Given the description of an element on the screen output the (x, y) to click on. 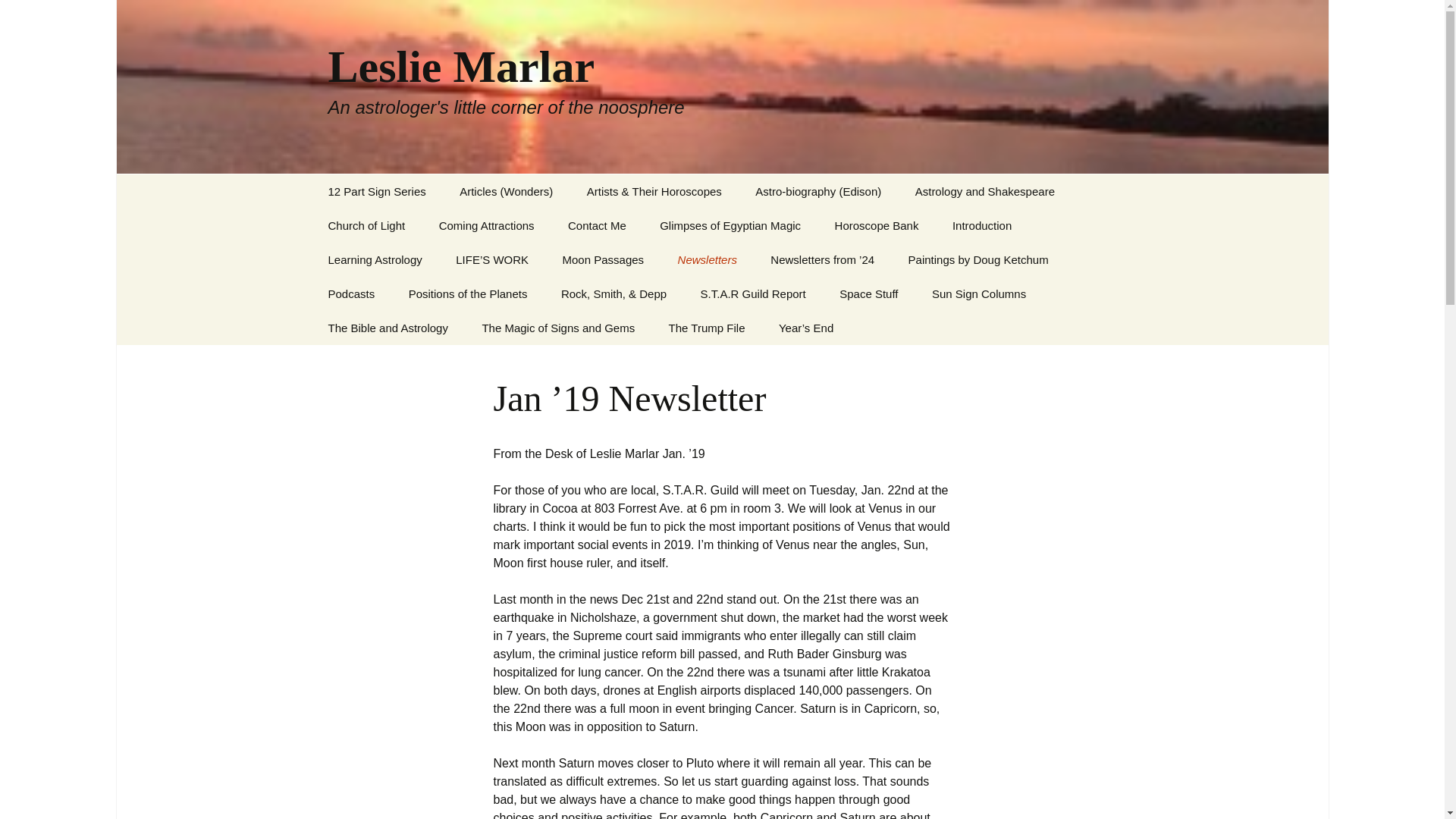
A Parting Gift (519, 225)
